Given the description of an element on the screen output the (x, y) to click on. 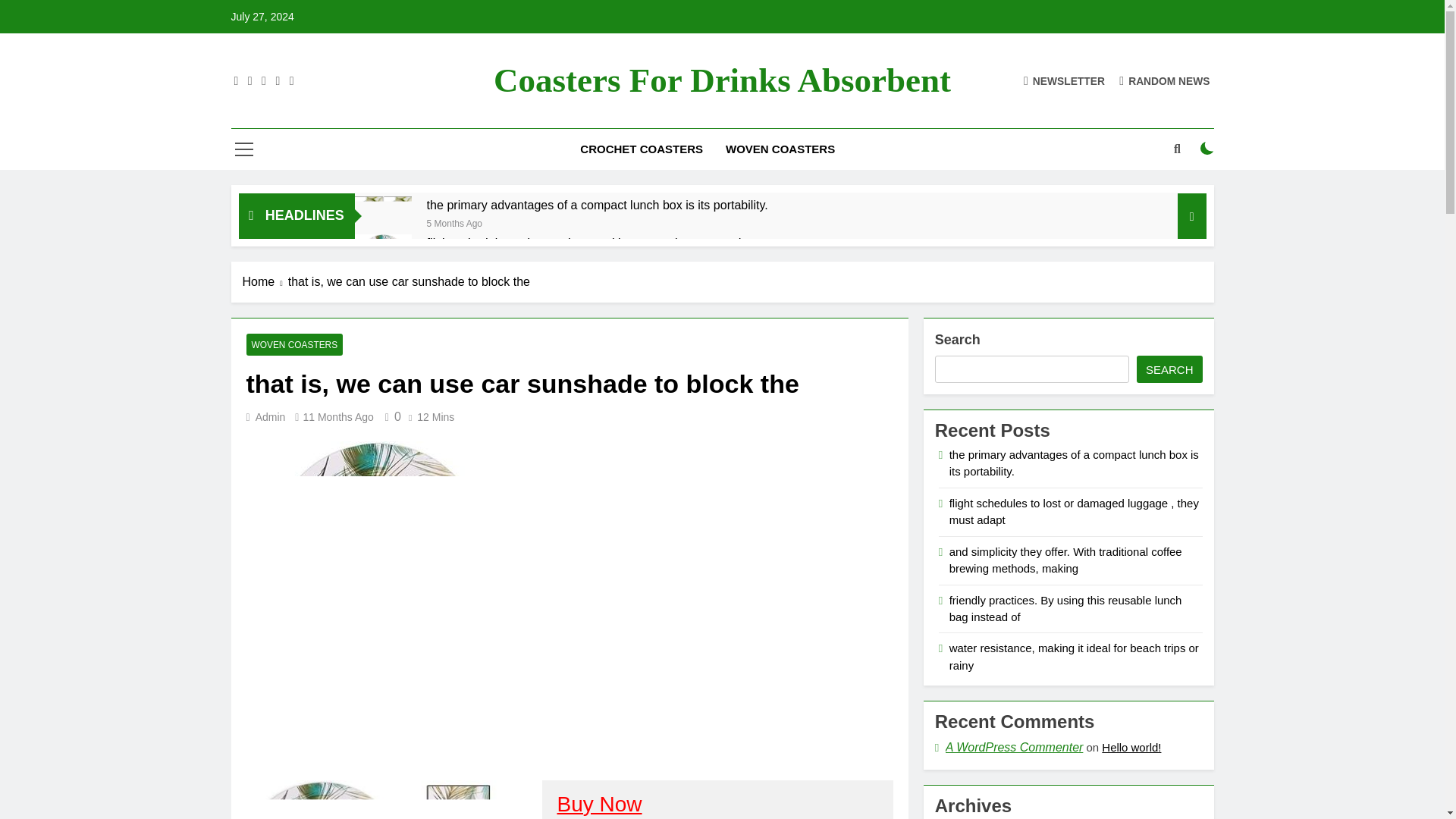
Coasters For Drinks Absorbent (721, 80)
NEWSLETTER (1064, 80)
WOVEN COASTERS (779, 148)
Home (265, 281)
5 Months Ago (453, 222)
on (1206, 148)
RANDOM NEWS (1164, 80)
CROCHET COASTERS (641, 148)
WOVEN COASTERS (294, 344)
